Given the description of an element on the screen output the (x, y) to click on. 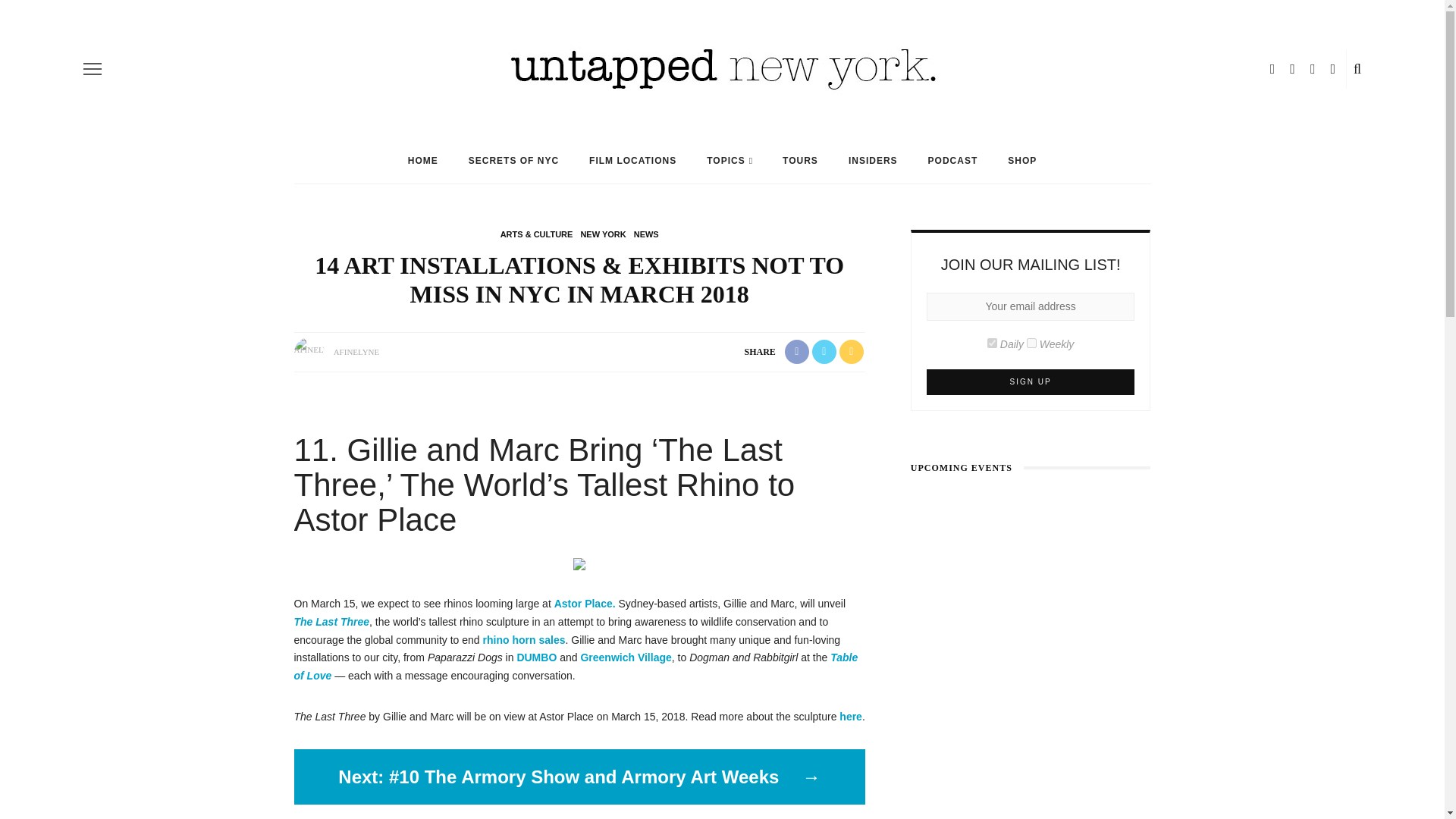
e99a09560c (992, 343)
Post by AFineLyne (356, 351)
Sign up (1030, 381)
7cff6a70fd (1031, 343)
off canvas button (91, 68)
